Given the description of an element on the screen output the (x, y) to click on. 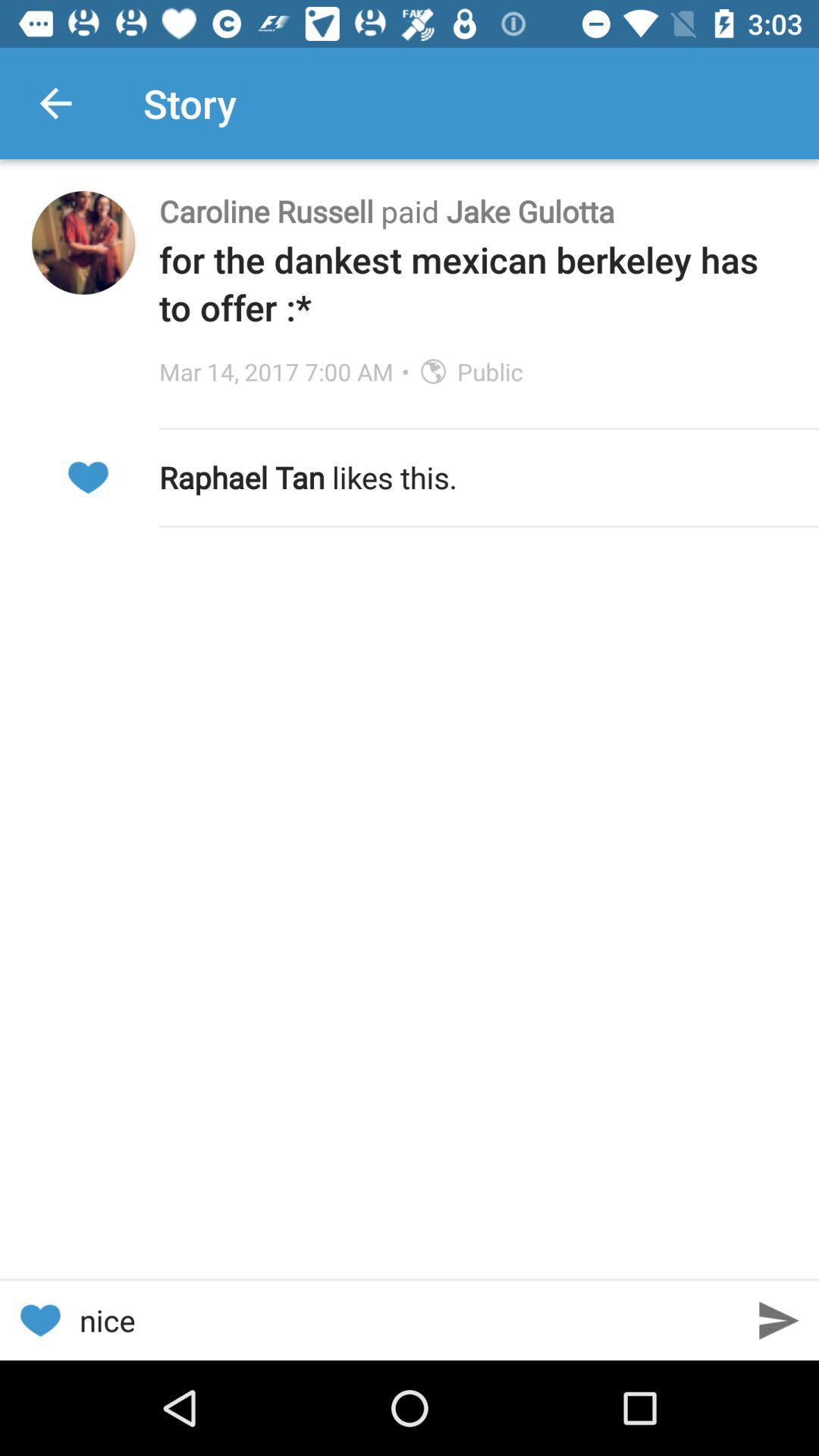
launch the caroline russell paid item (473, 211)
